Given the description of an element on the screen output the (x, y) to click on. 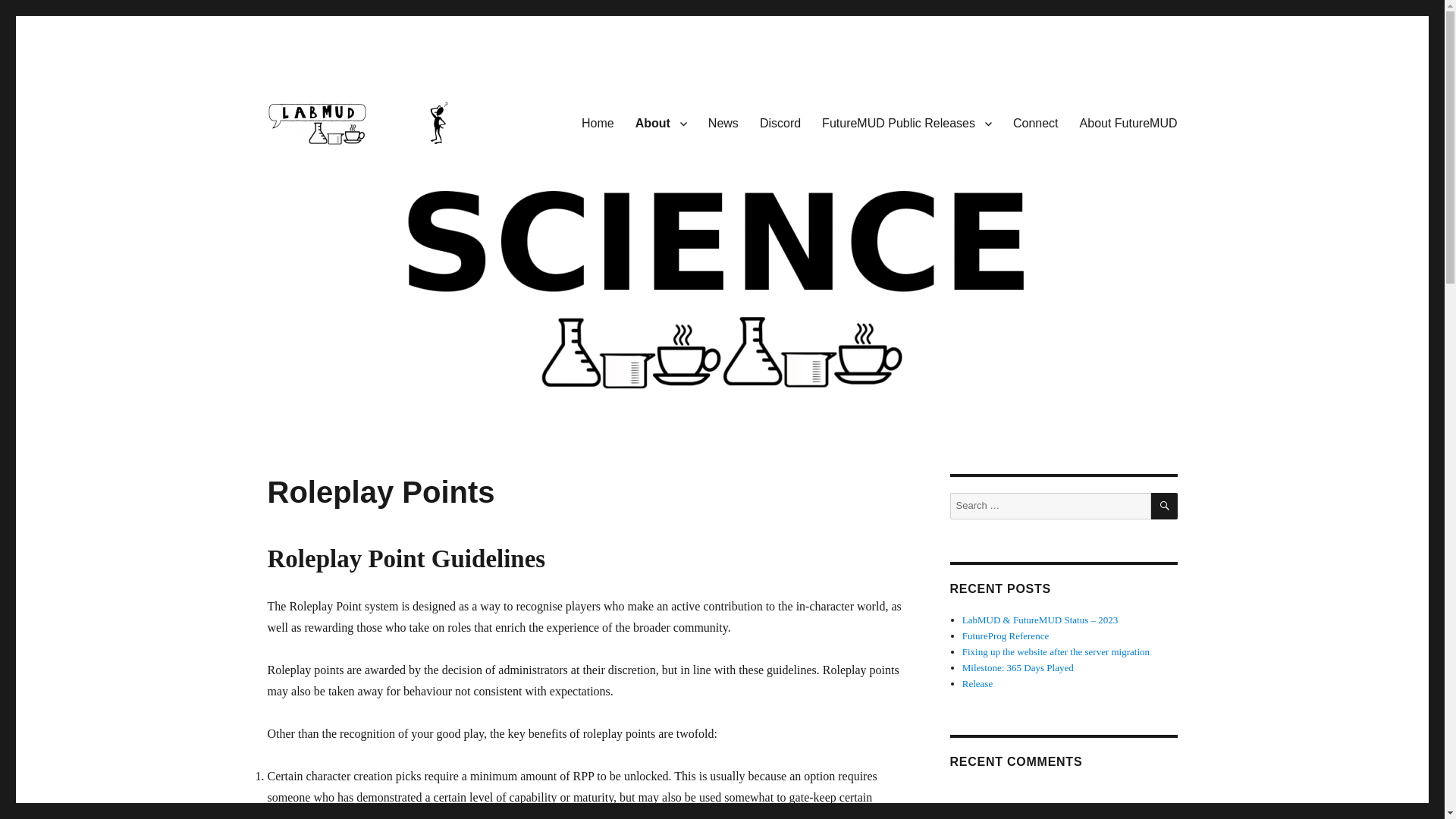
About (660, 123)
FutureMUD Public Releases (906, 123)
About FutureMUD (1128, 123)
FutureProg Reference (1005, 635)
Release (977, 683)
LabMUD (309, 169)
Discord (779, 123)
Milestone: 365 Days Played (1018, 667)
Home (597, 123)
Connect (1035, 123)
